Given the description of an element on the screen output the (x, y) to click on. 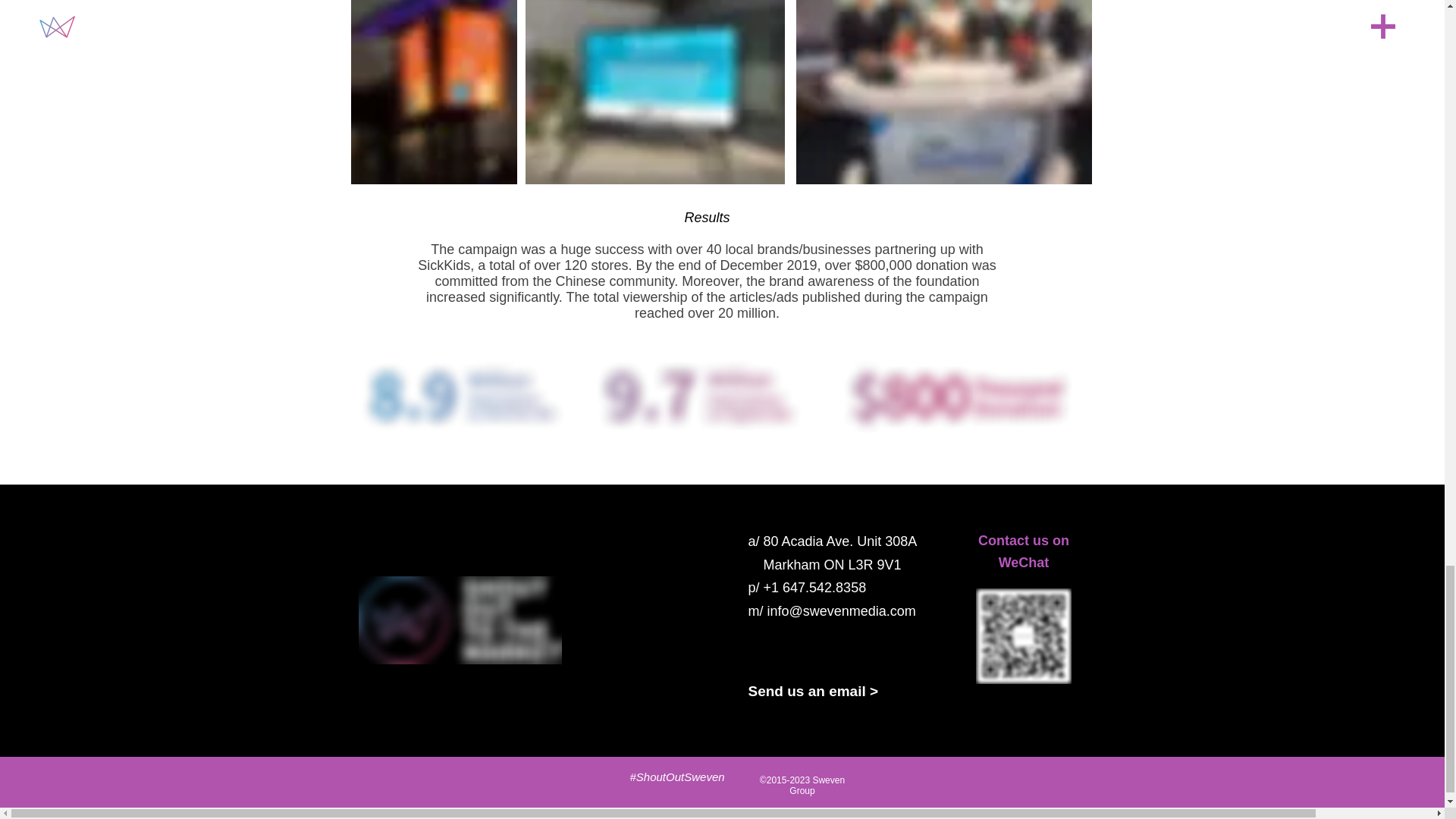
    Markham ON L3R 9V1 (824, 564)
Contact us on WeChat (1023, 551)
